Given the description of an element on the screen output the (x, y) to click on. 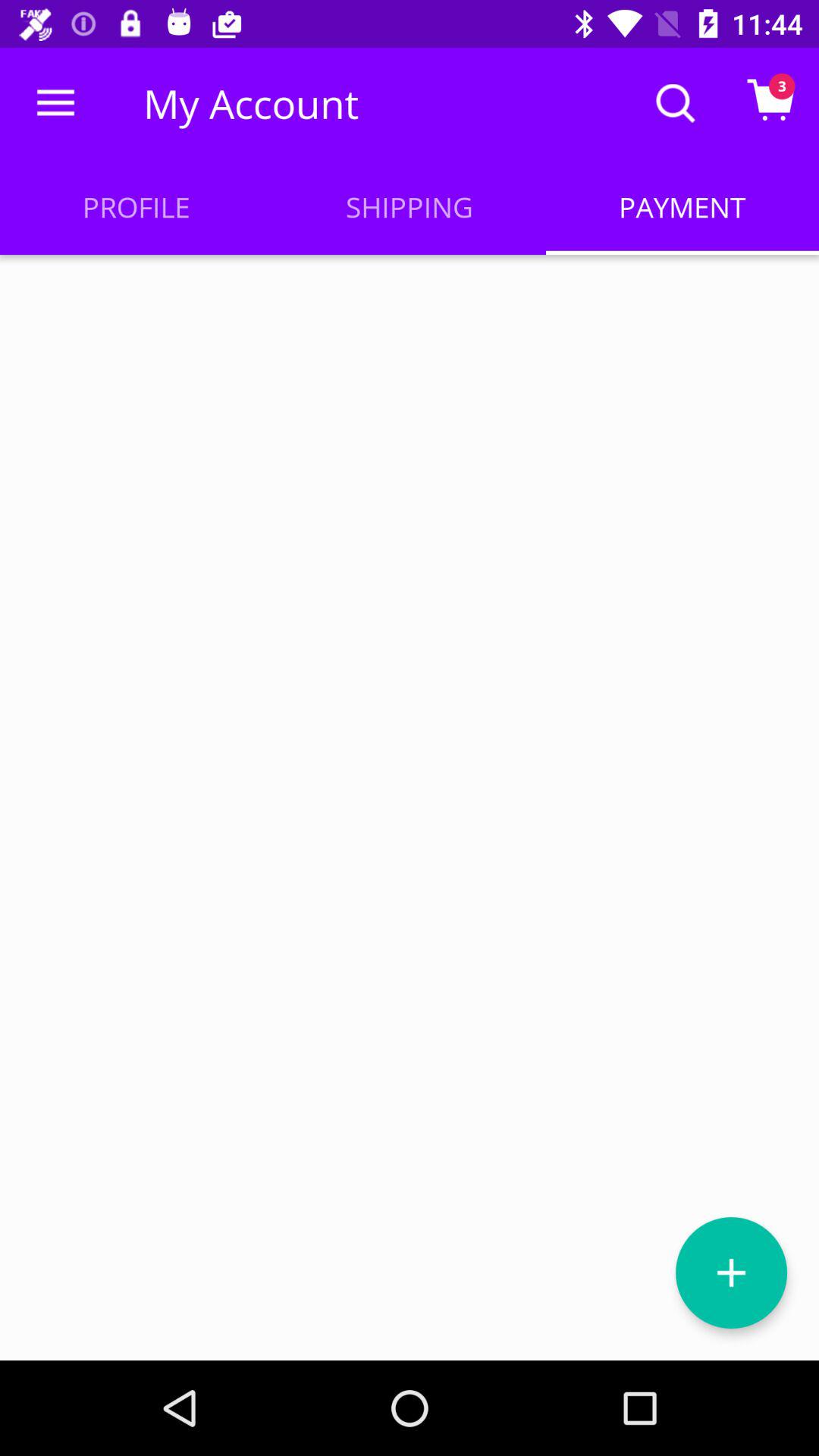
add new item (731, 1272)
